Given the description of an element on the screen output the (x, y) to click on. 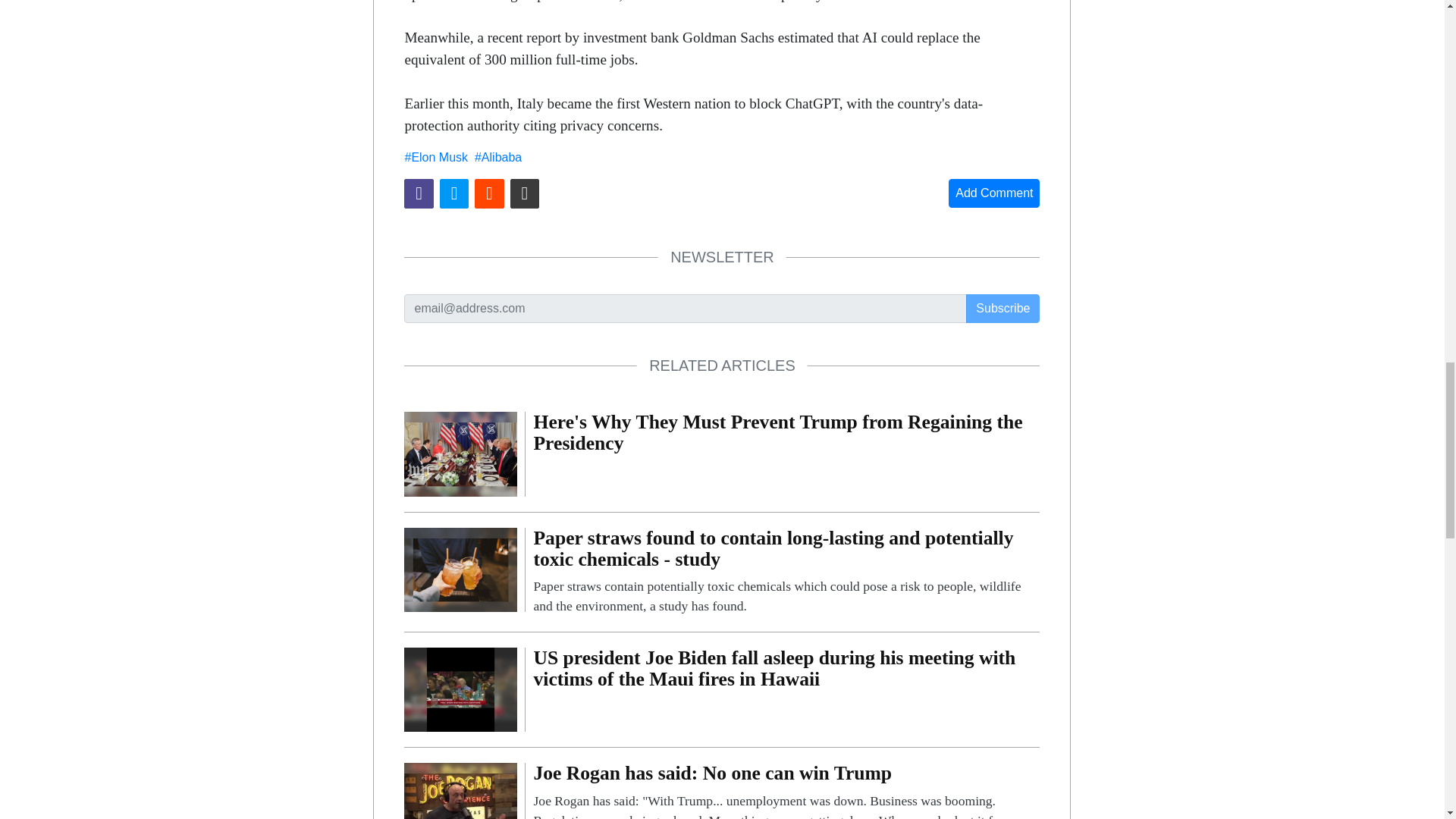
Subscribe (1002, 308)
Joe Rogan has said: No one can win Trump (460, 803)
Add Comment (994, 193)
